Given the description of an element on the screen output the (x, y) to click on. 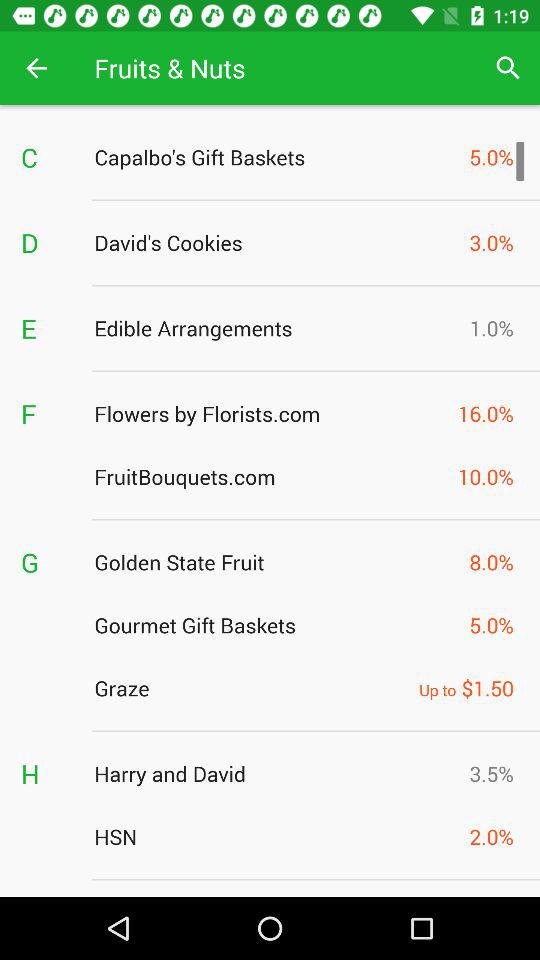
press icon to the right of the c icon (276, 157)
